Given the description of an element on the screen output the (x, y) to click on. 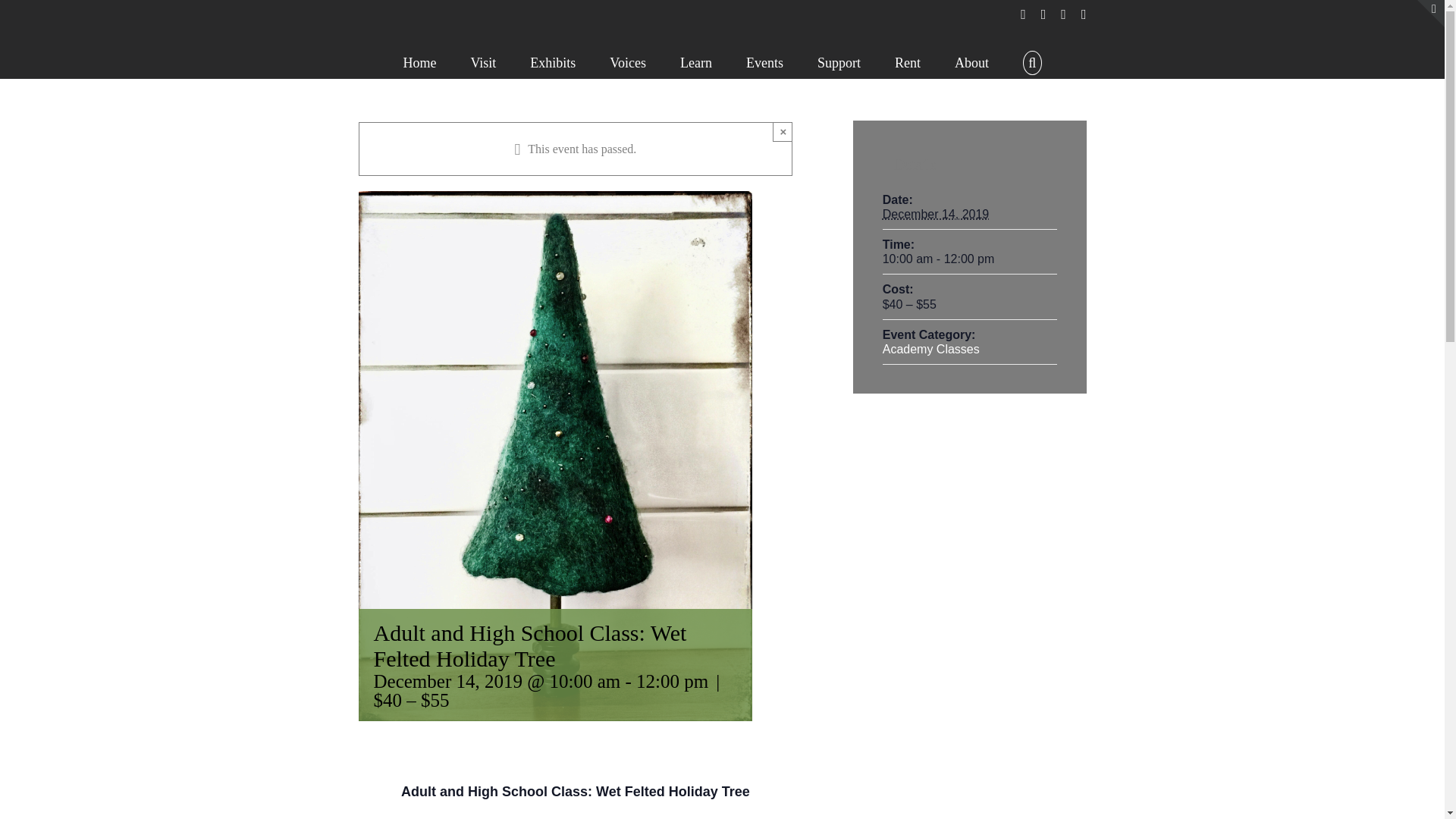
2019-12-14 (936, 214)
Exhibits (552, 61)
Learn (695, 61)
2019-12-14 (969, 258)
Voices (628, 61)
Home (419, 61)
